Given the description of an element on the screen output the (x, y) to click on. 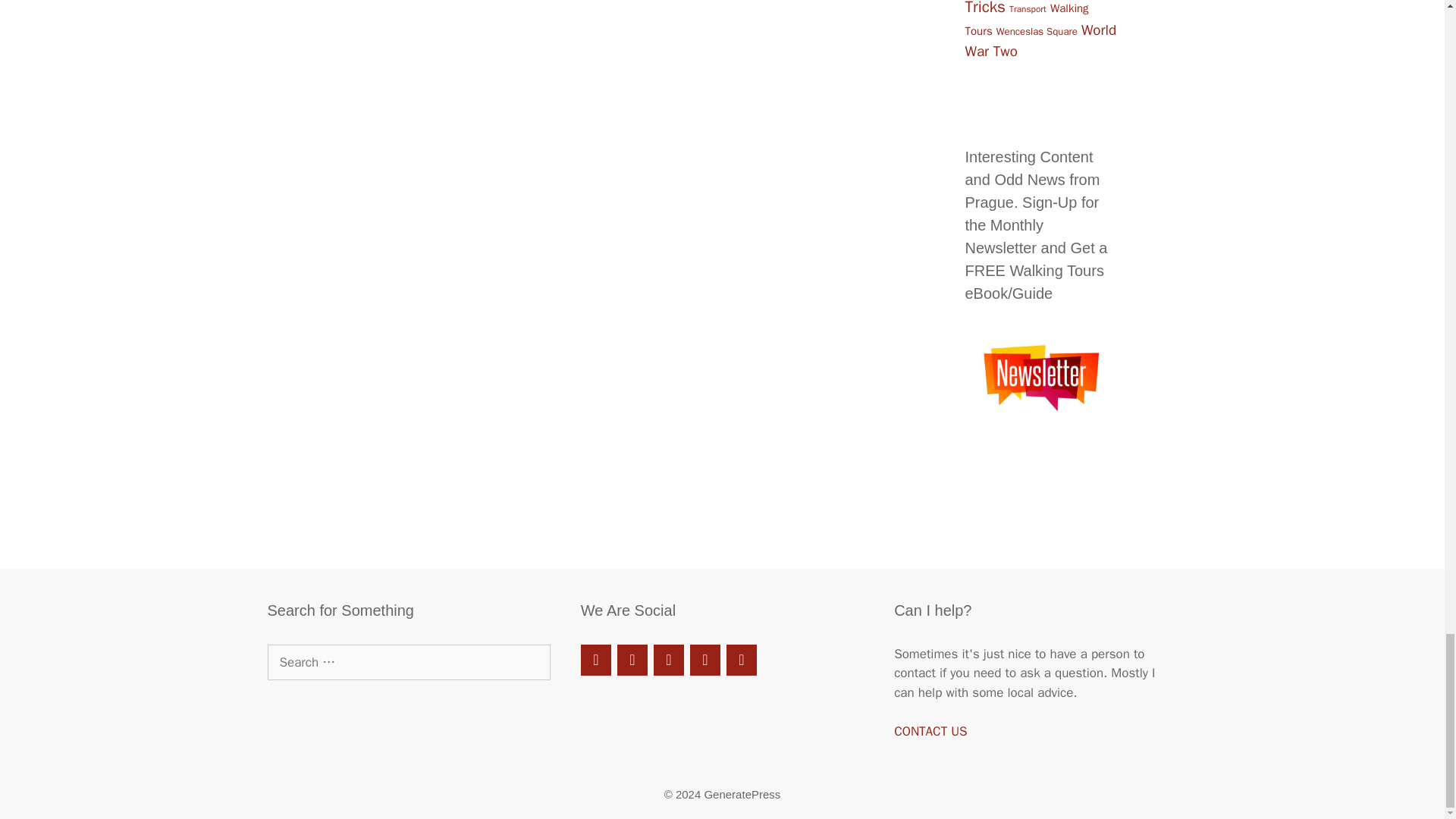
Pinterest (668, 659)
Search for: (408, 662)
Instagram (741, 659)
Trip Advisor (632, 659)
Facebook (595, 659)
YouTube (705, 659)
